Given the description of an element on the screen output the (x, y) to click on. 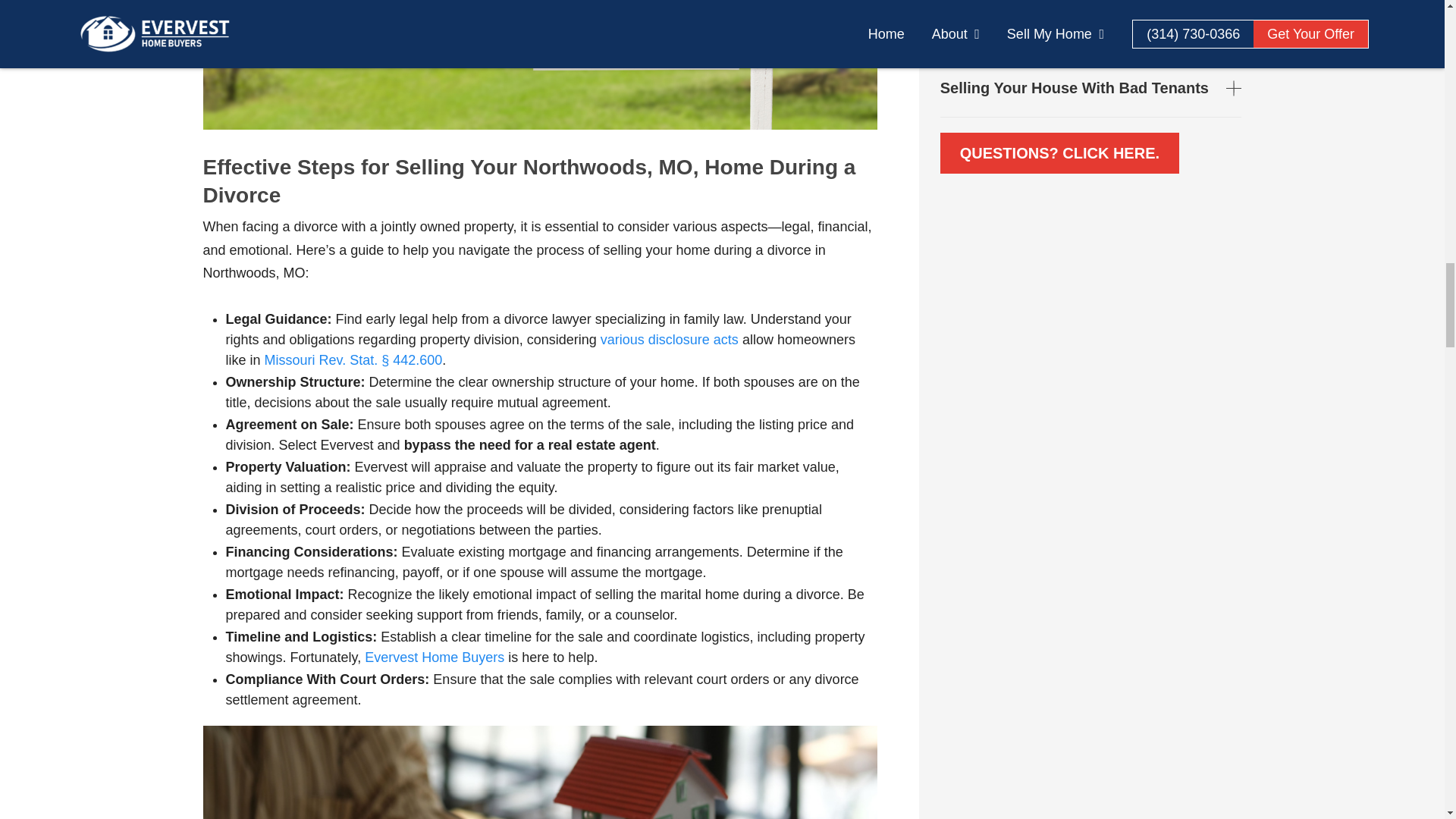
Selling Home for Cash During a Divorce (353, 359)
Selling Home for Cash During a Divorce (668, 339)
